Given the description of an element on the screen output the (x, y) to click on. 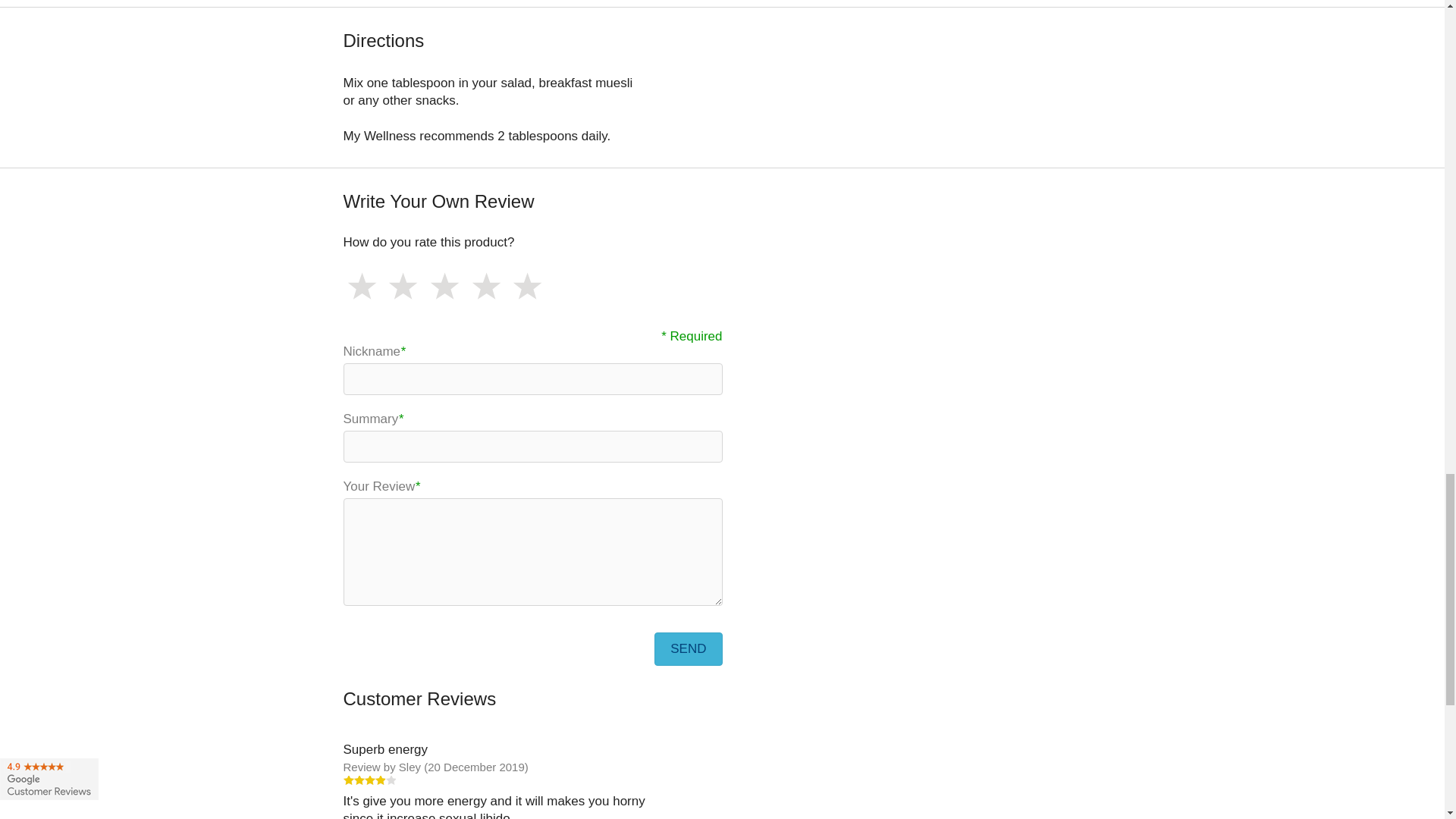
Submit Review (687, 648)
